Given the description of an element on the screen output the (x, y) to click on. 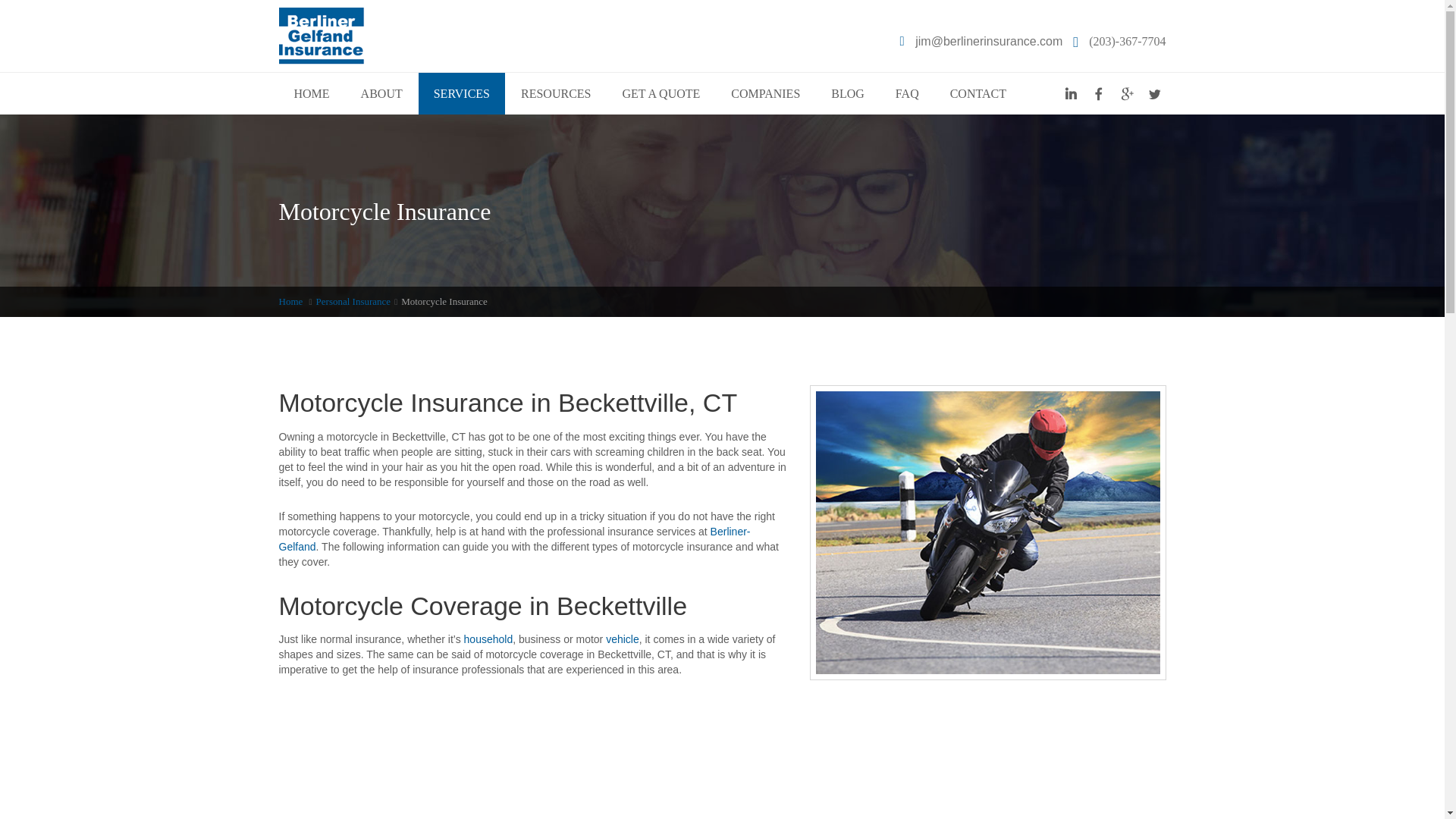
Twitter (1154, 93)
Personal Insurance (353, 301)
ABOUT (381, 93)
SERVICES (462, 93)
RESOURCES (555, 93)
BLOG (847, 93)
Facebook (1098, 93)
Linkedin (1069, 93)
CONTACT (978, 93)
COMPANIES (765, 93)
FAQ (907, 93)
HOME (312, 93)
Home (290, 301)
GET A QUOTE (660, 93)
